Given the description of an element on the screen output the (x, y) to click on. 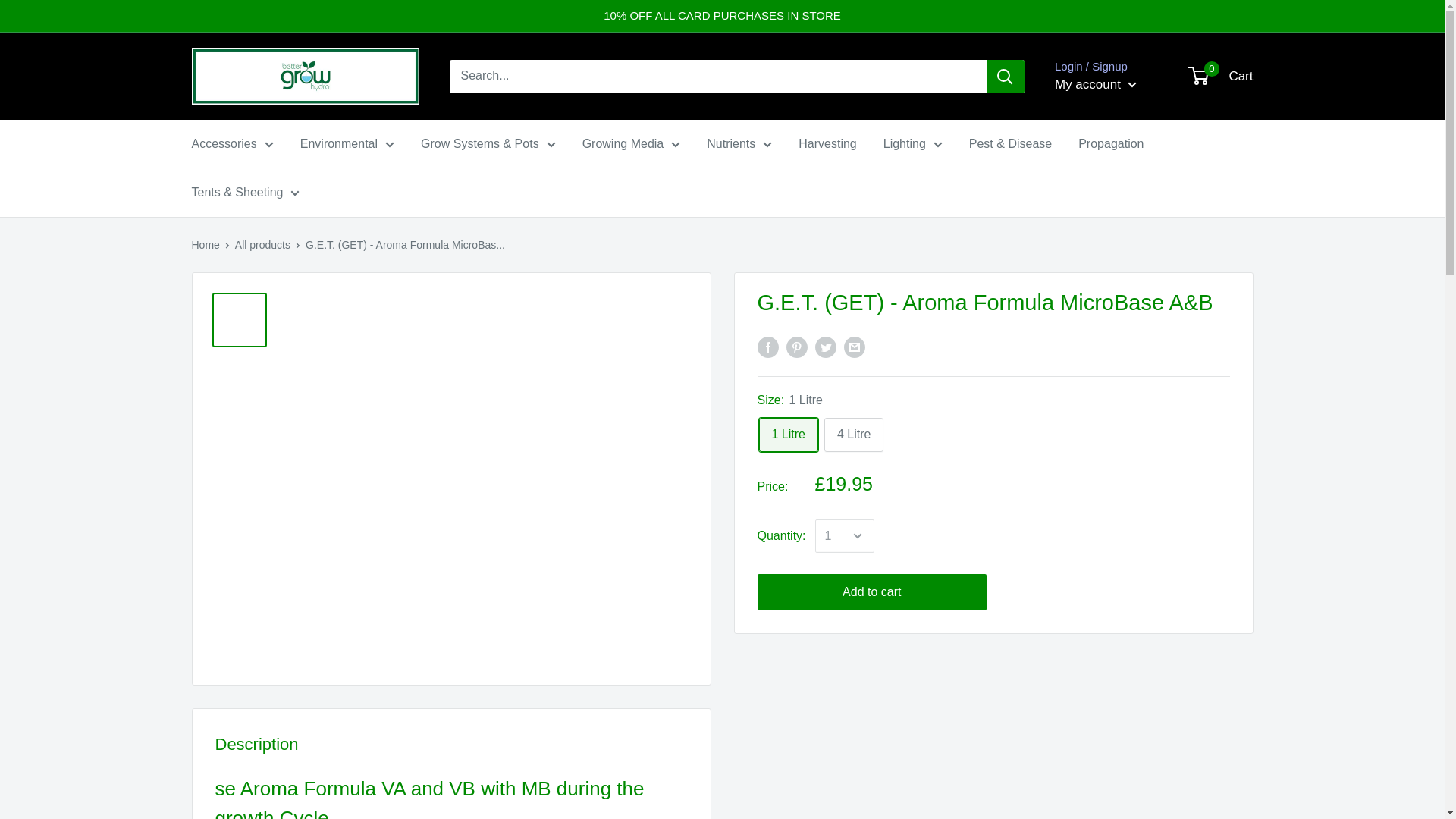
4 Litre (853, 434)
1 Litre (787, 434)
